Given the description of an element on the screen output the (x, y) to click on. 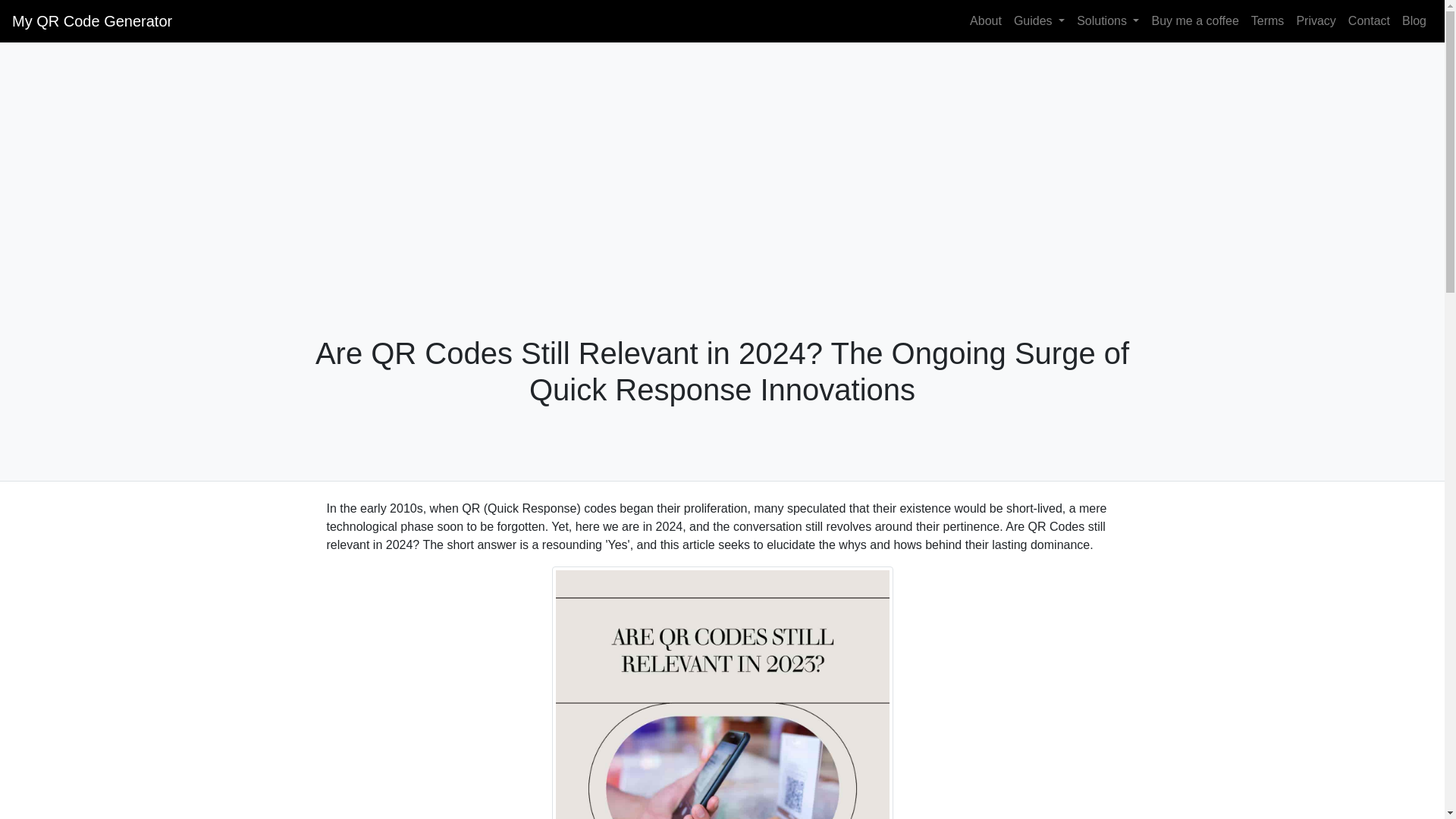
Blog (1414, 20)
Solutions (1107, 20)
Buy me a coffee (1194, 20)
Terms (1267, 20)
My QR Code Generator (91, 20)
Contact (1369, 20)
Privacy (1315, 20)
Guides (1038, 20)
About (985, 20)
